Given the description of an element on the screen output the (x, y) to click on. 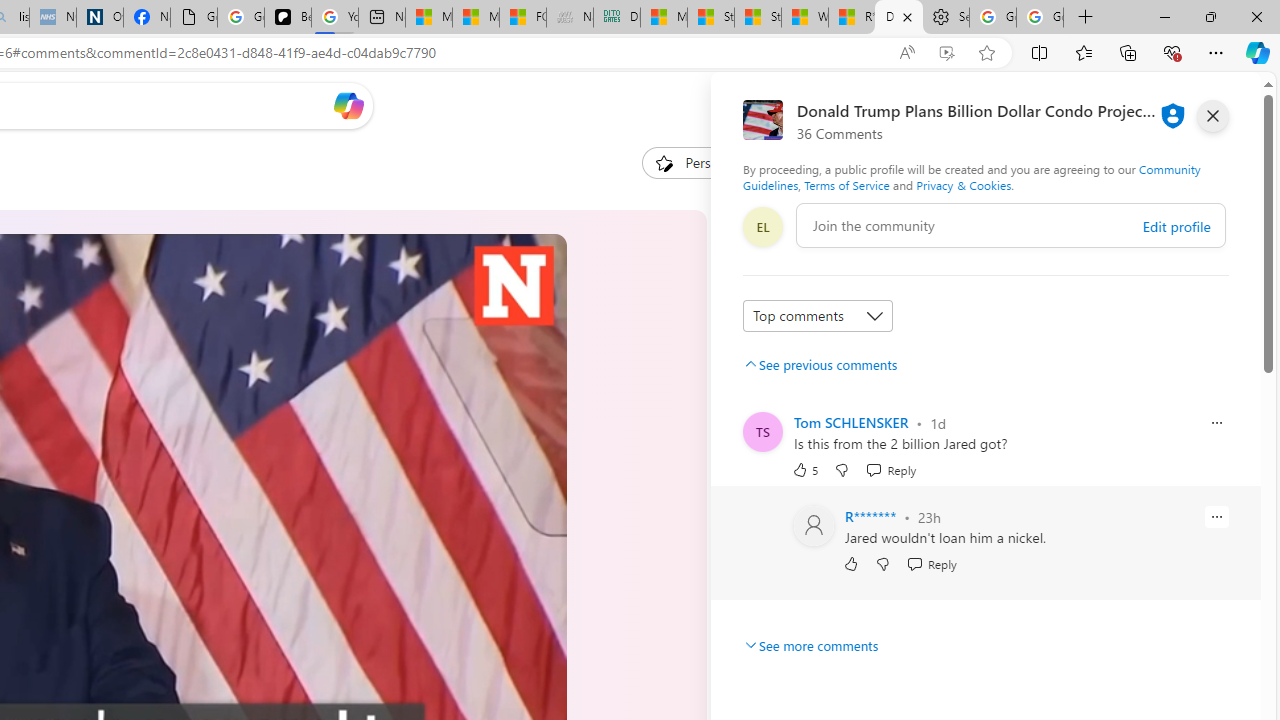
R******* | Trusted Community Engagement and Contributions (852, 17)
Google Analytics Opt-out Browser Add-on Download Page (194, 17)
comment-box (1011, 225)
See previous comments (820, 364)
